Given the description of an element on the screen output the (x, y) to click on. 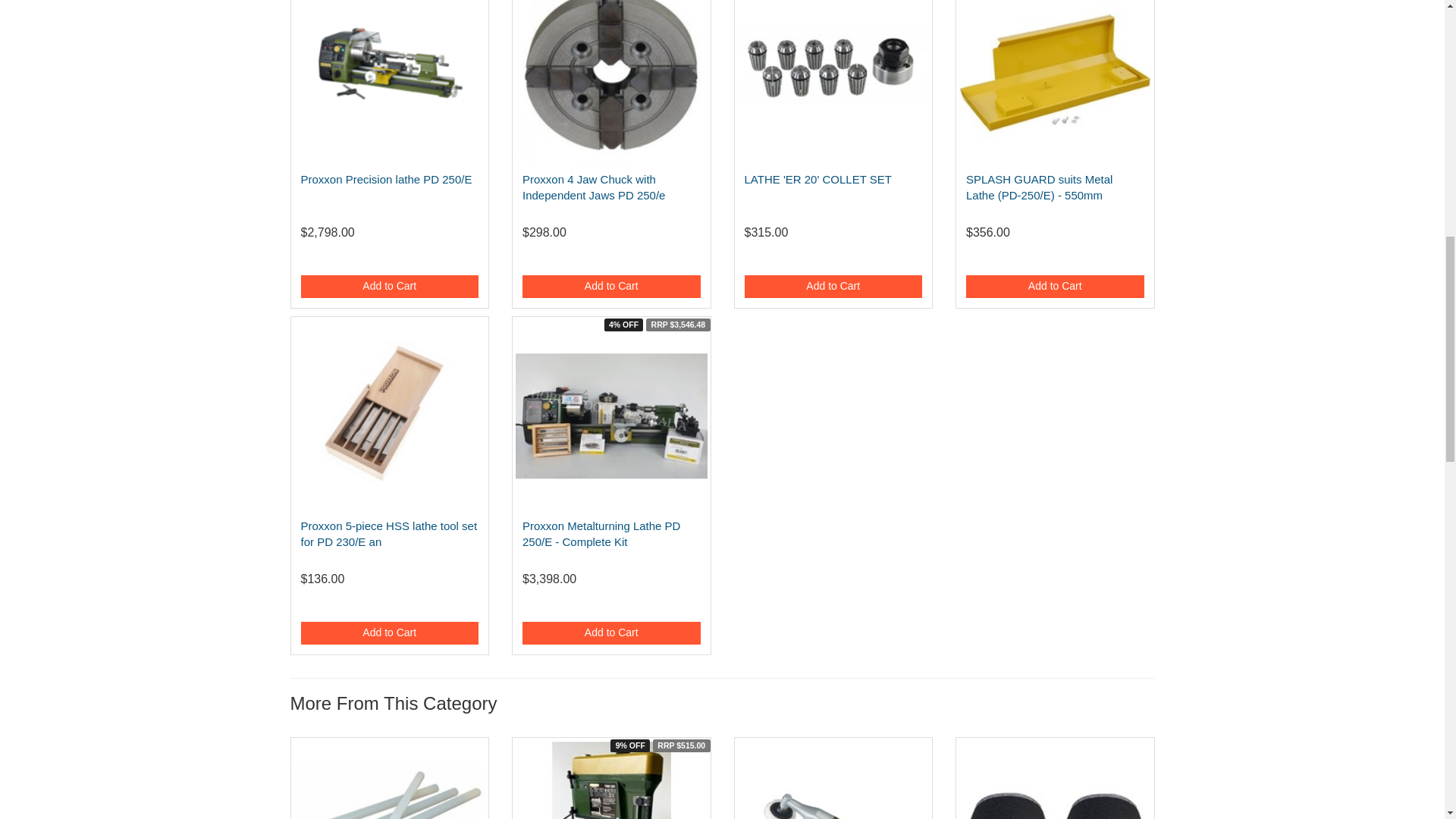
PayPal Message 5 (1055, 259)
Add to Cart (833, 286)
PayPal Message 4 (833, 259)
PayPal Message 2 (389, 259)
Add to Cart (611, 286)
Add to Cart (389, 286)
LATHE 'ER 20' COLLET SET (817, 178)
PayPal Message 3 (611, 259)
Add to Cart (1055, 286)
